Given the description of an element on the screen output the (x, y) to click on. 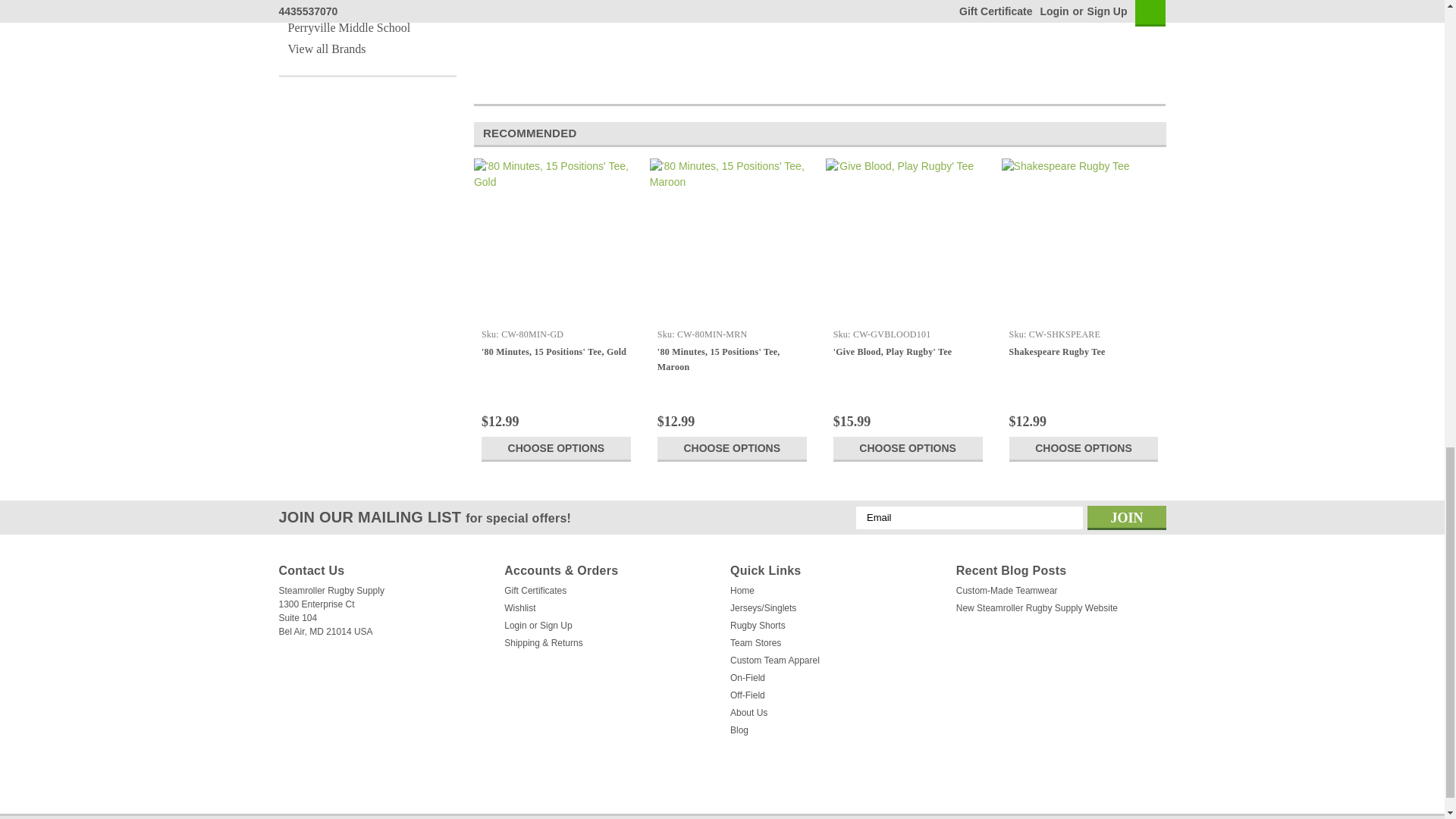
'Give Blood, Play Rugby' Tee (907, 240)
'80 Minutes, 15 Positions' Tee, Maroon (731, 240)
2018-gildan-tops-youth-adult.png (676, 30)
Join (1126, 517)
'80 Minutes, 15 Positions' Tee, Gold (556, 240)
